Given the description of an element on the screen output the (x, y) to click on. 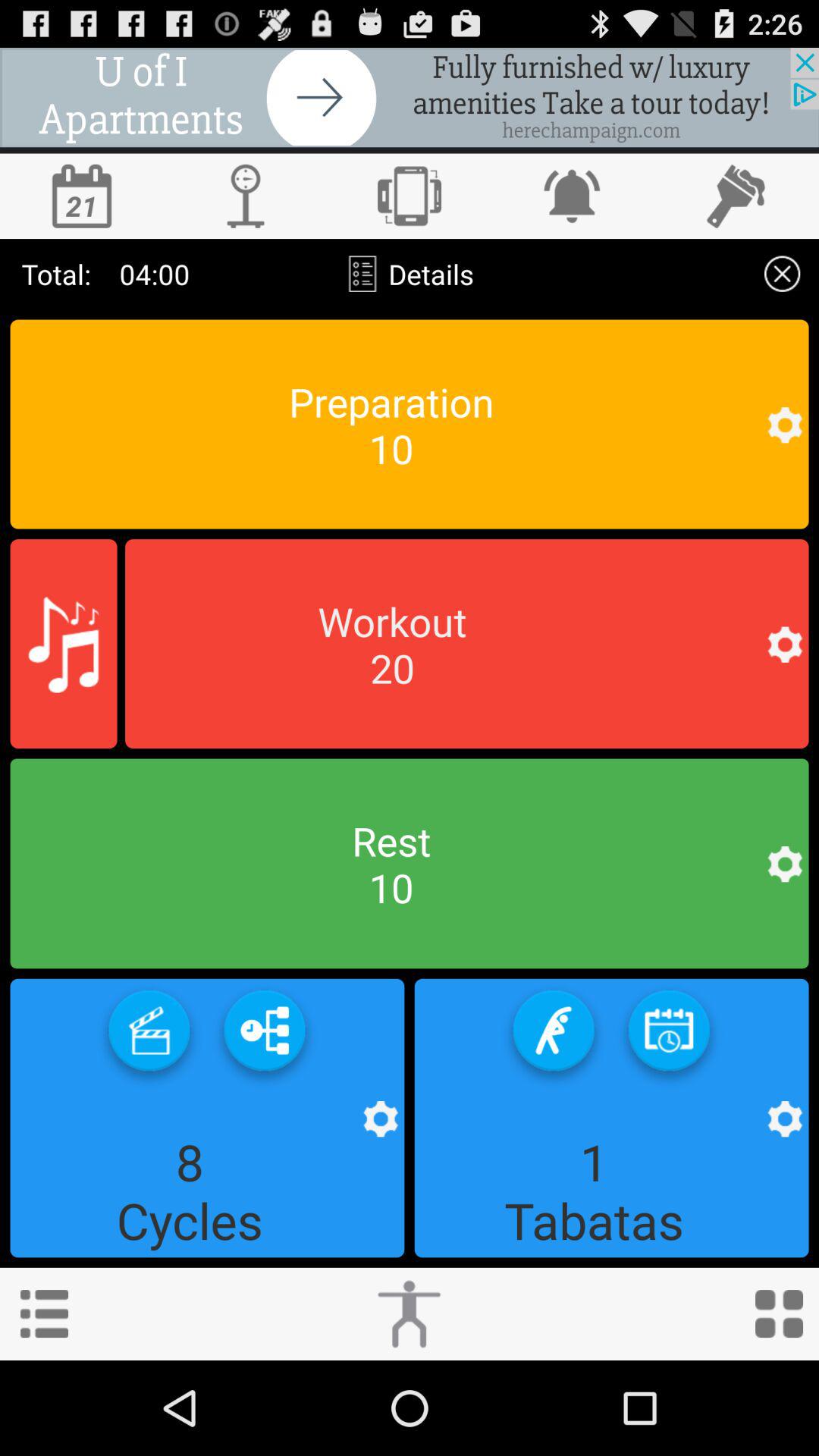
date (81, 195)
